Given the description of an element on the screen output the (x, y) to click on. 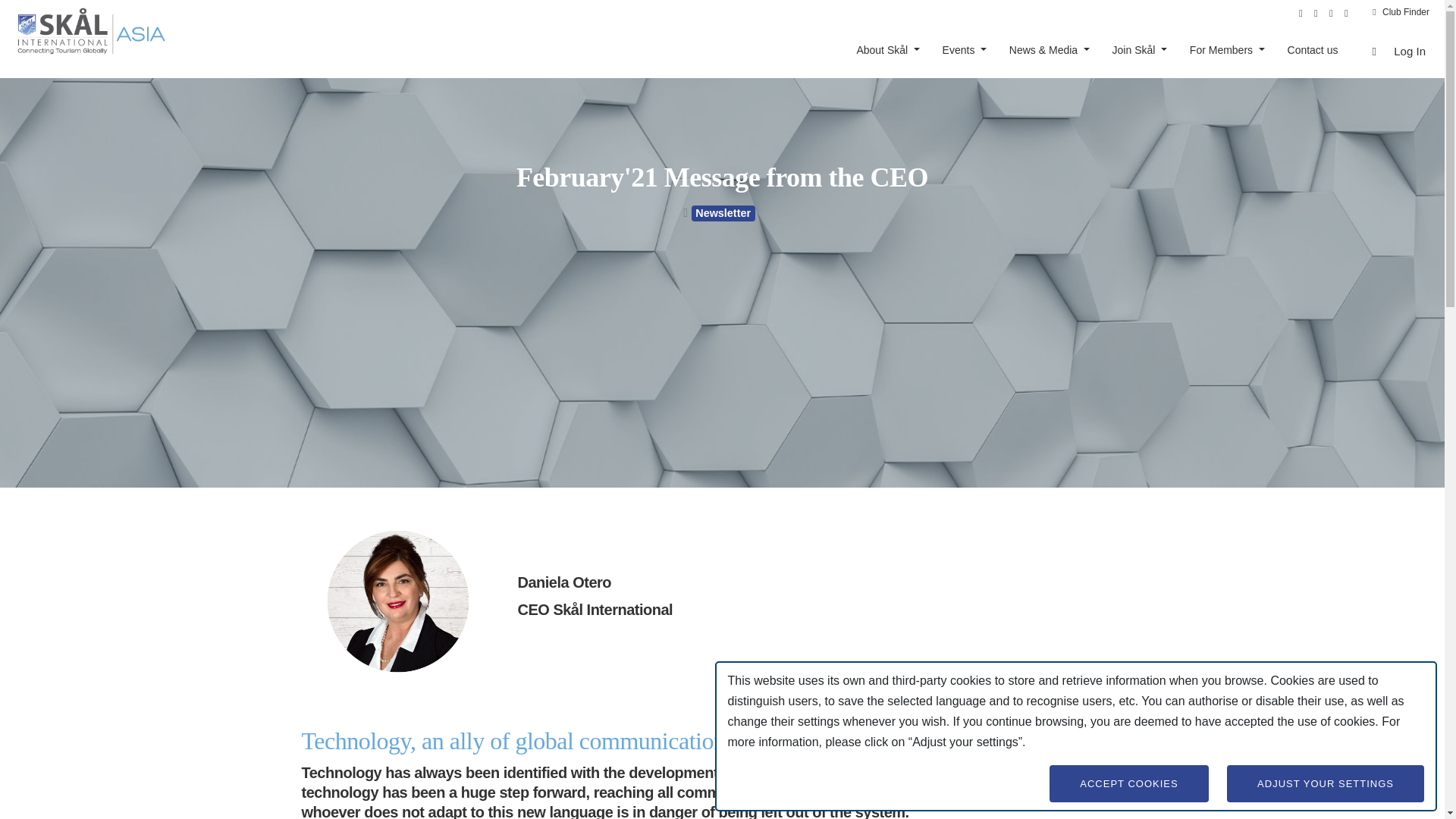
Club Finder (1401, 11)
ACCEPT COOKIES (1128, 783)
ADJUST YOUR SETTINGS (1325, 783)
